Given the description of an element on the screen output the (x, y) to click on. 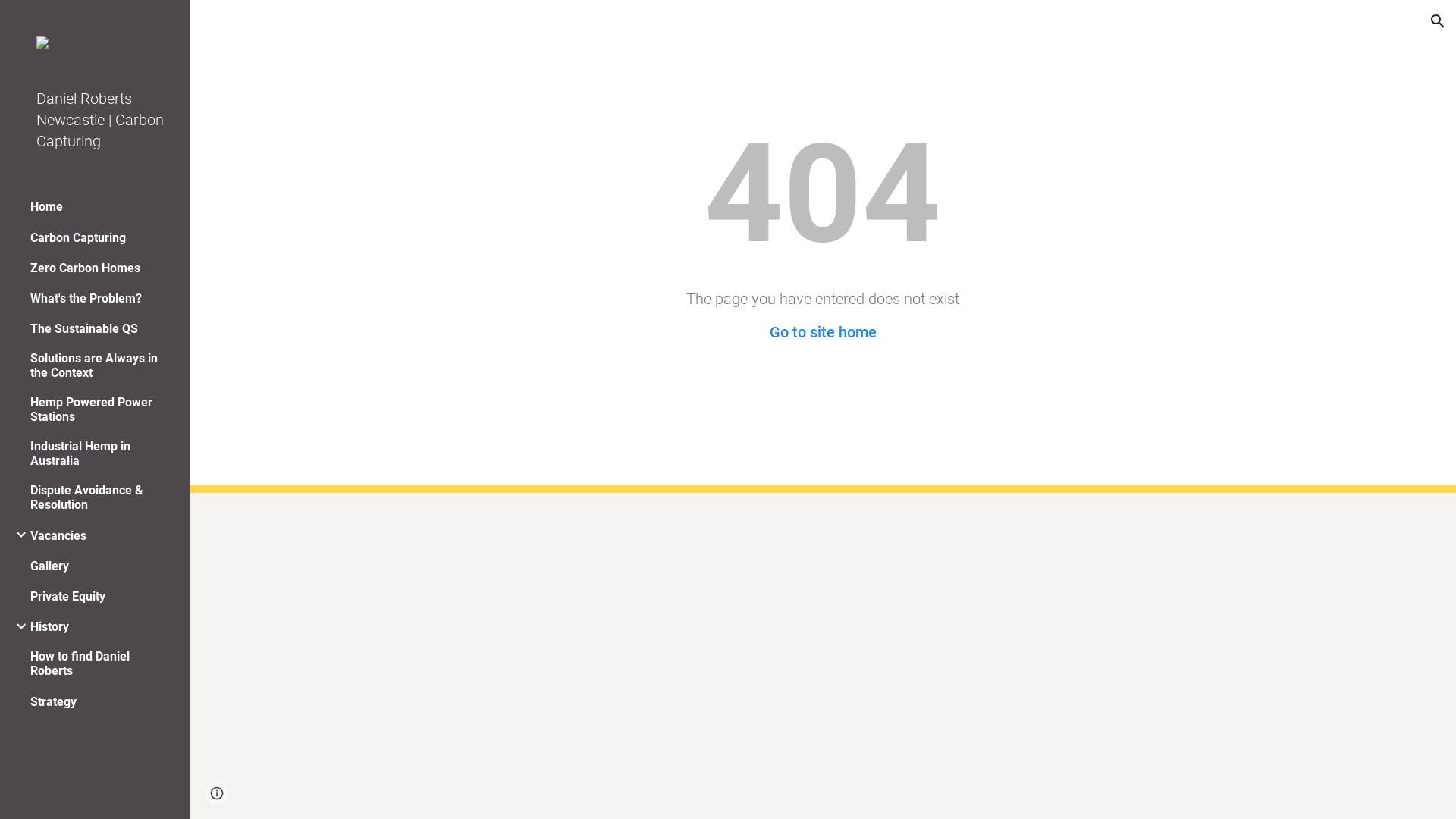
The Sustainable QS Element type: text (84, 328)
Strategy Element type: text (53, 701)
Carbon Capturing Element type: text (77, 237)
Industrial Hemp in Australia Element type: text (99, 453)
Hemp Powered Power Stations Element type: text (99, 409)
Daniel Roberts Newcastle | Carbon Capturing Element type: text (100, 119)
Solutions are Always in the Context Element type: text (99, 365)
Expand/Collapse Element type: hover (16, 626)
Gallery Element type: text (49, 565)
History Element type: text (49, 626)
What's the Problem? Element type: text (85, 298)
Dispute Avoidance & Resolution Element type: text (99, 497)
Private Equity Element type: text (67, 596)
Expand/Collapse Element type: hover (16, 534)
Home Element type: text (46, 206)
How to find Daniel Roberts Element type: text (99, 663)
Go to site home Element type: text (821, 332)
Zero Carbon Homes Element type: text (85, 267)
Vacancies Element type: text (58, 535)
